Given the description of an element on the screen output the (x, y) to click on. 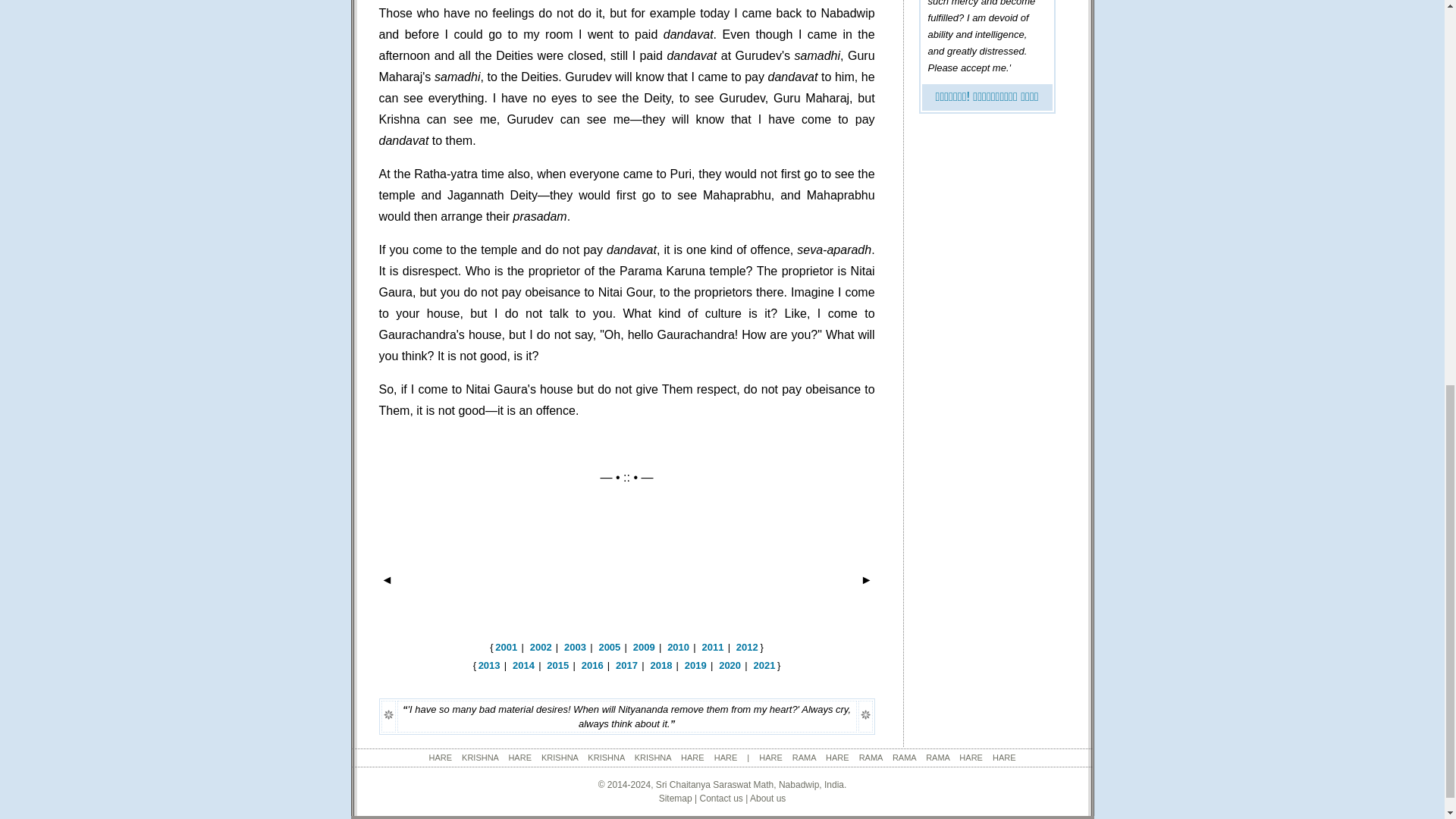
2019 (695, 665)
2013 (489, 665)
2005 (609, 646)
2016 (592, 665)
2015 (558, 665)
2014 (523, 665)
2010 (677, 646)
2002 (540, 646)
Sitemap (676, 798)
2001 (505, 646)
2011 (712, 646)
2003 (575, 646)
2017 (626, 665)
2020 (730, 665)
2018 (660, 665)
